Given the description of an element on the screen output the (x, y) to click on. 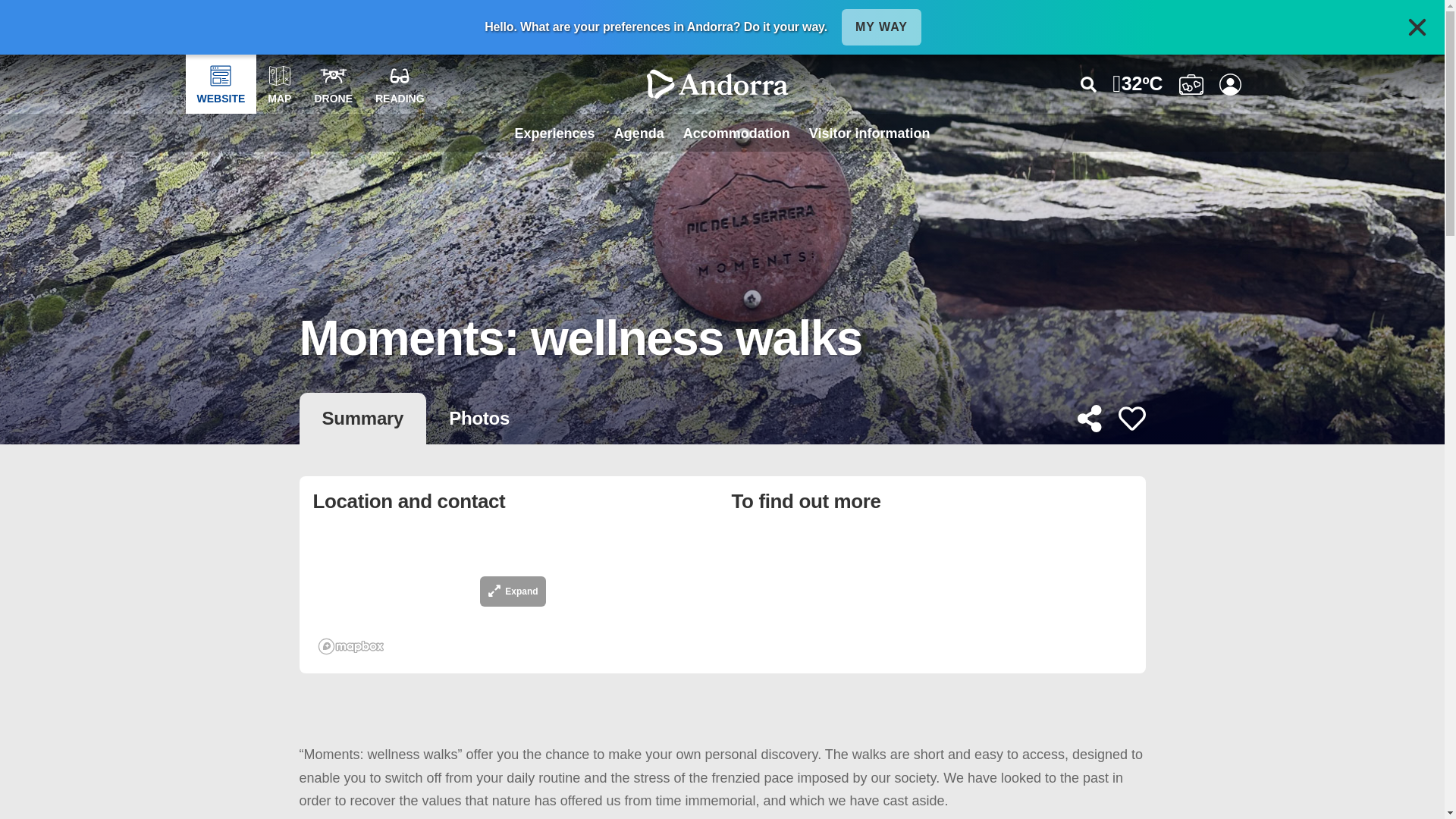
DRONE (333, 83)
WEBSITE (220, 83)
DRONE (333, 83)
My way (881, 27)
MY WAY (881, 27)
Clima (1136, 83)
WEBSITE (220, 83)
Experiences (554, 132)
READING (399, 83)
